Given the description of an element on the screen output the (x, y) to click on. 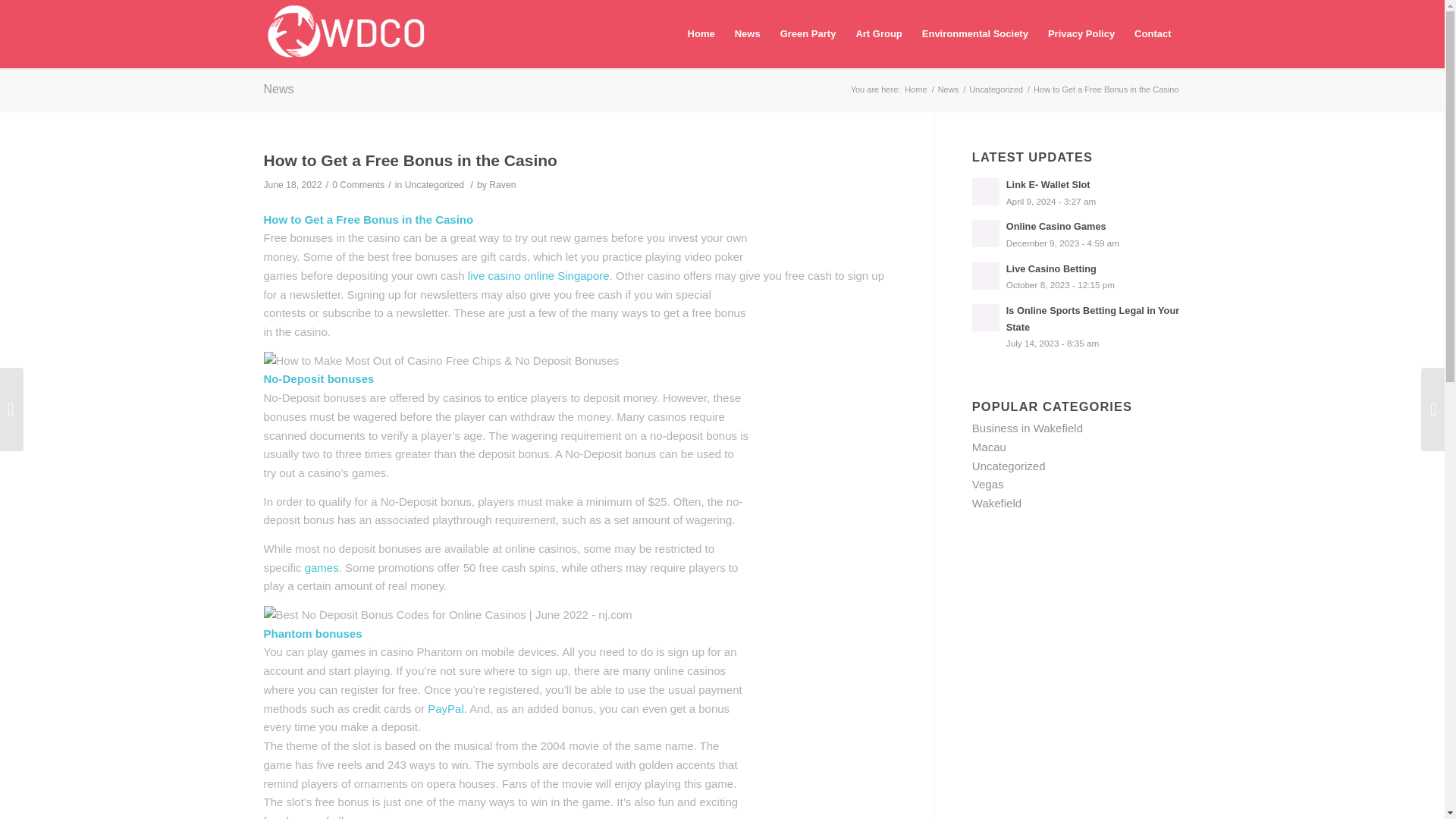
Posts by Raven (502, 184)
0 Comments (357, 184)
News (278, 88)
News (948, 89)
PayPal (446, 707)
WDCO (915, 89)
live casino online Singapore (538, 275)
Permanent Link: News (1076, 233)
